Given the description of an element on the screen output the (x, y) to click on. 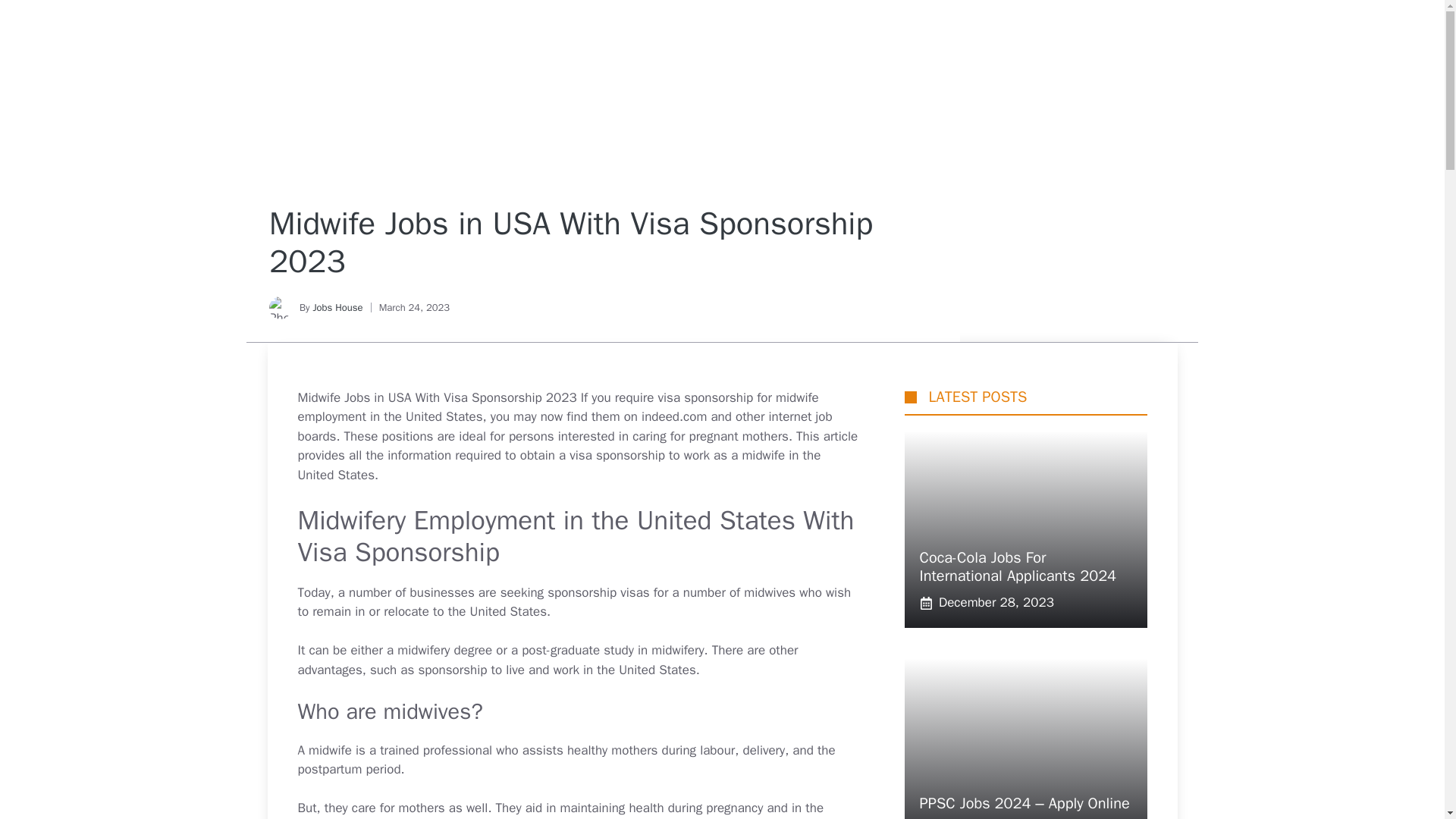
Jobs House (337, 307)
Coca-Cola Jobs For International Applicants 2024 (1017, 566)
